Given the description of an element on the screen output the (x, y) to click on. 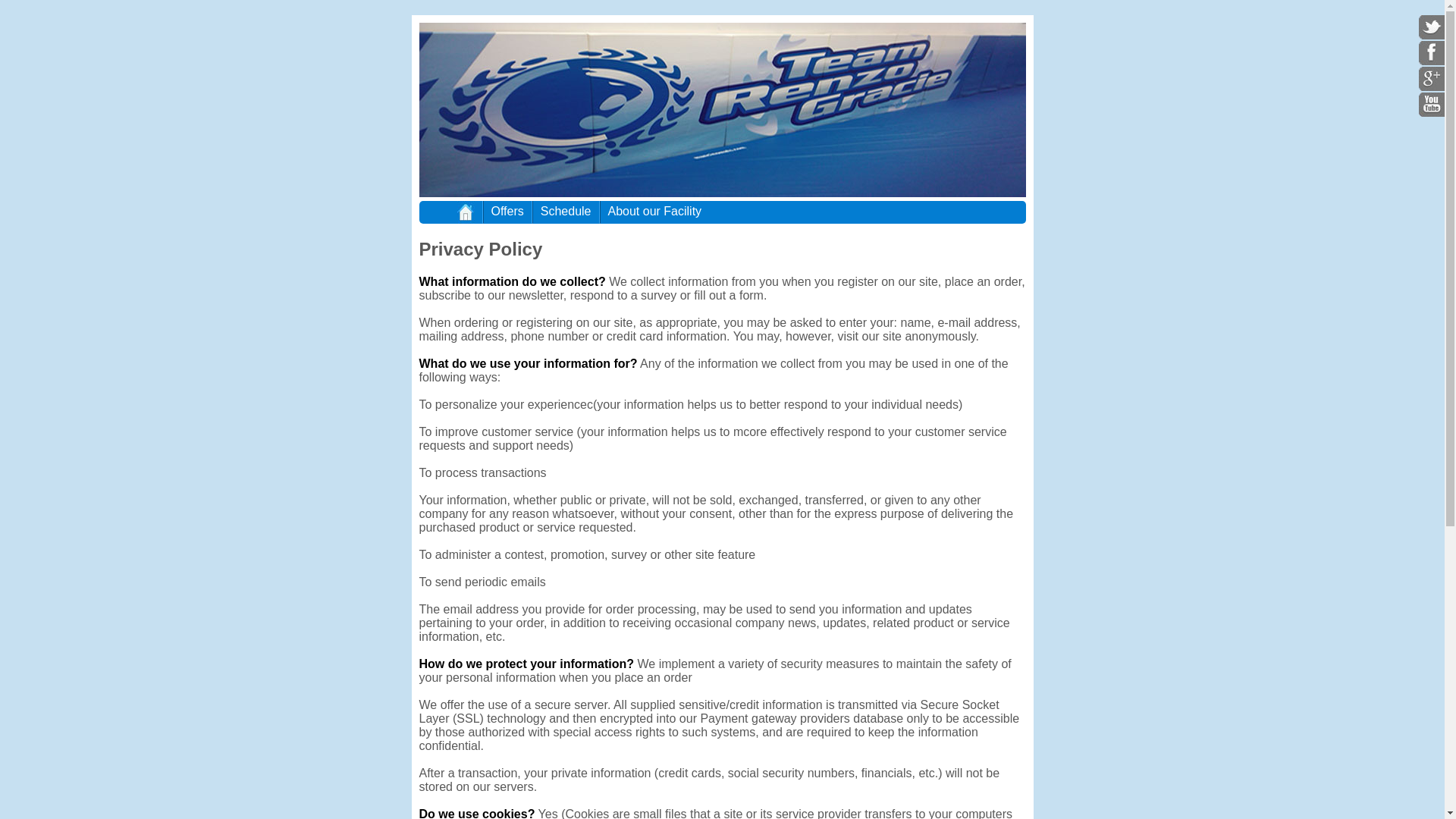
About our Facility Element type: text (655, 209)
Offers Element type: text (507, 209)
Schedule Element type: text (565, 209)
